Given the description of an element on the screen output the (x, y) to click on. 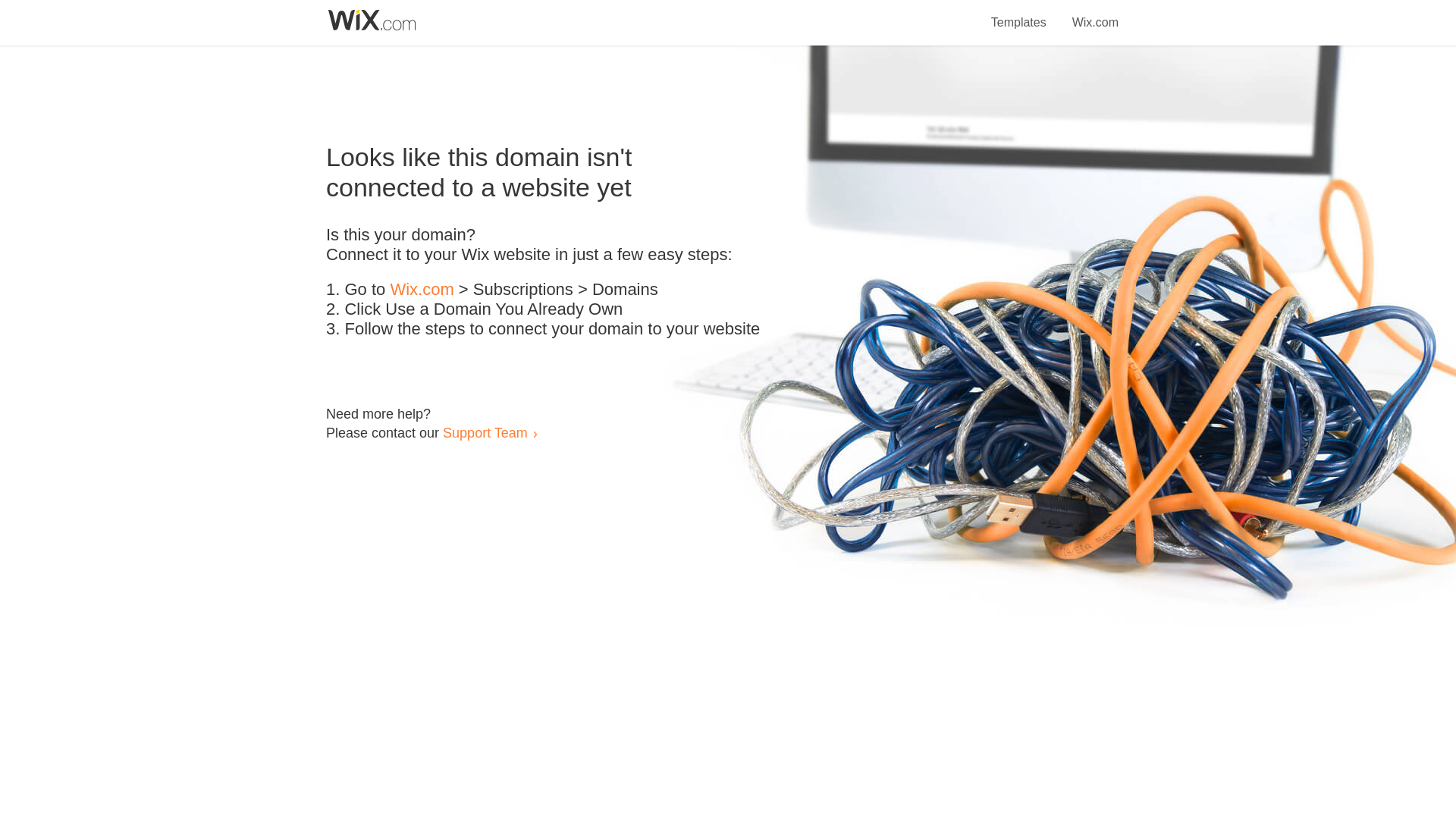
Wix.com (421, 289)
Wix.com (1095, 14)
Support Team (484, 432)
Templates (1018, 14)
